Given the description of an element on the screen output the (x, y) to click on. 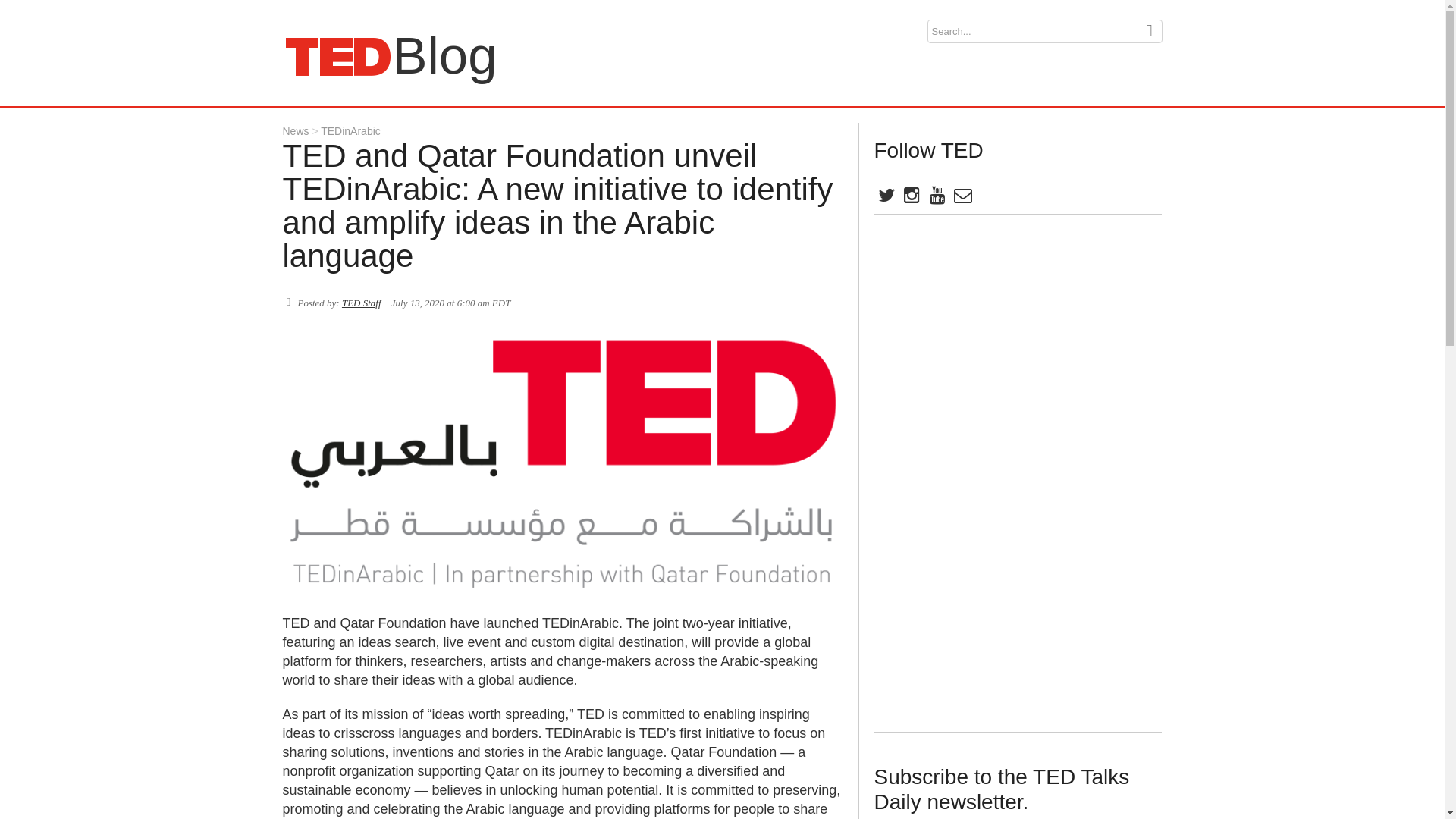
News (295, 131)
TEDinArabic (579, 622)
YouTube (935, 197)
TED Staff (361, 302)
Instagram (910, 197)
TEDinArabic (345, 131)
Twitter (337, 56)
Subscribe to TED Blog by email (884, 197)
Posts by TED Staff (961, 197)
